Given the description of an element on the screen output the (x, y) to click on. 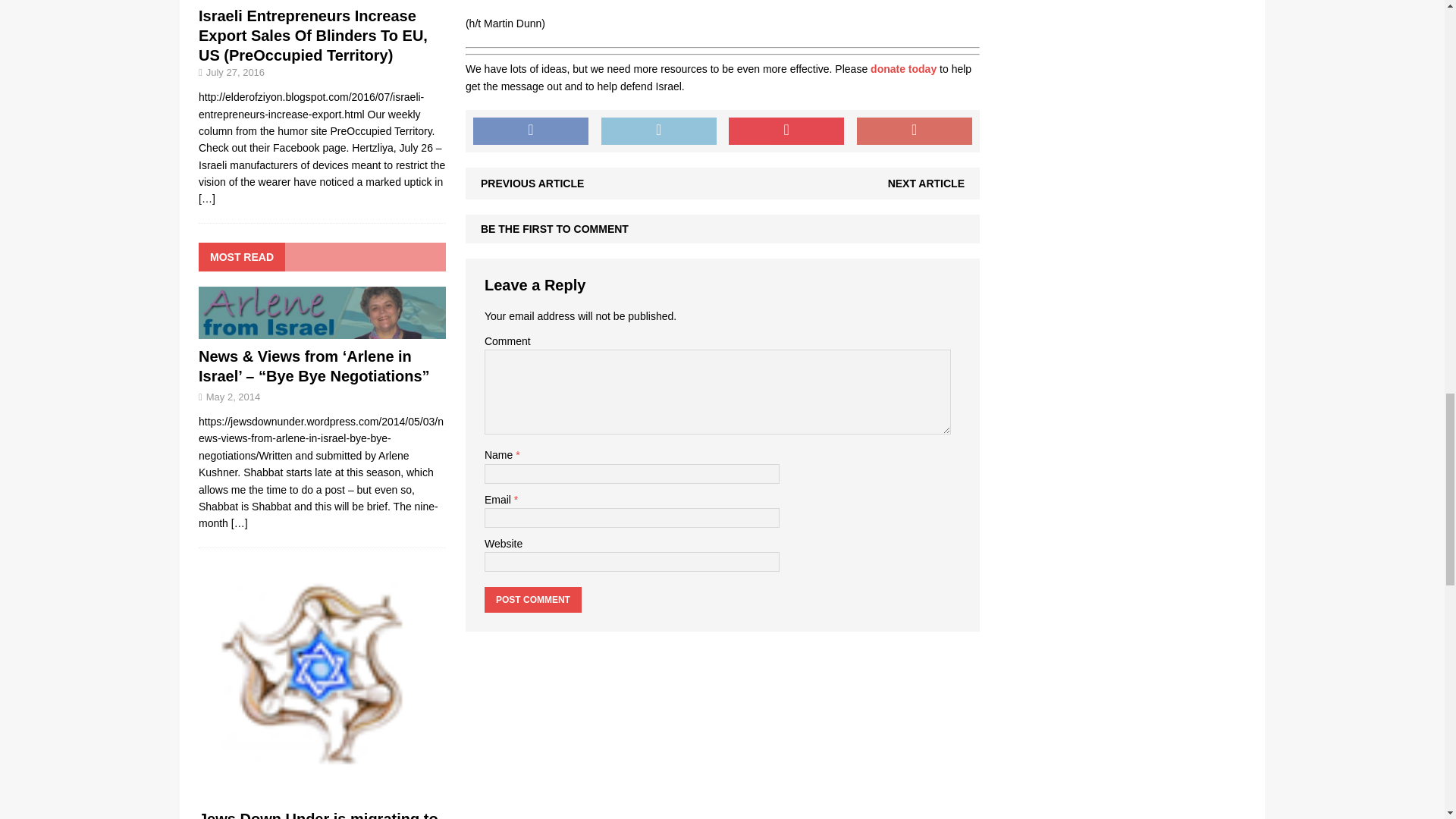
donate today (903, 69)
PREVIOUS ARTICLE (531, 183)
Post Comment (532, 599)
